Given the description of an element on the screen output the (x, y) to click on. 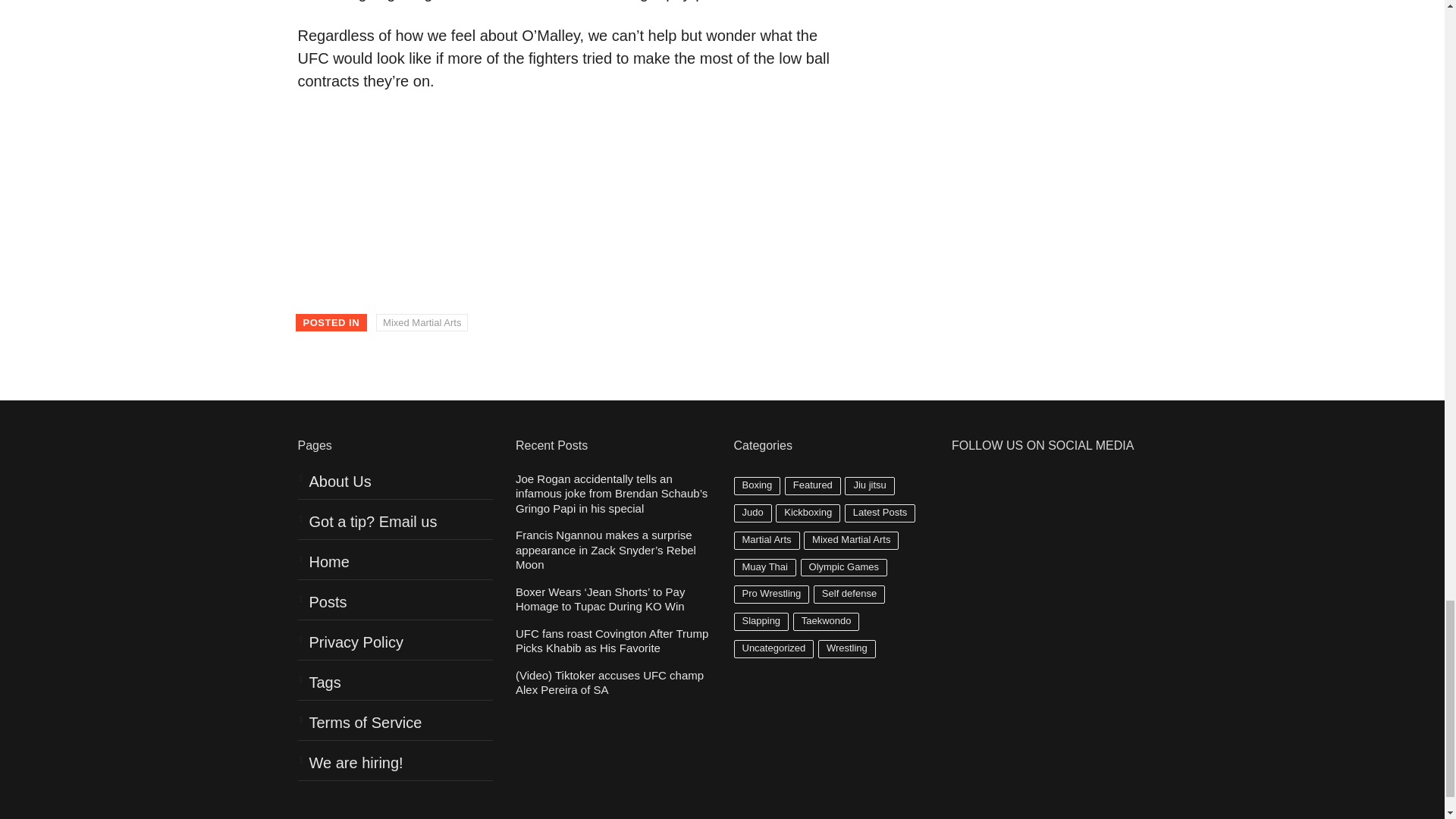
Mixed Martial Arts (421, 322)
